Given the description of an element on the screen output the (x, y) to click on. 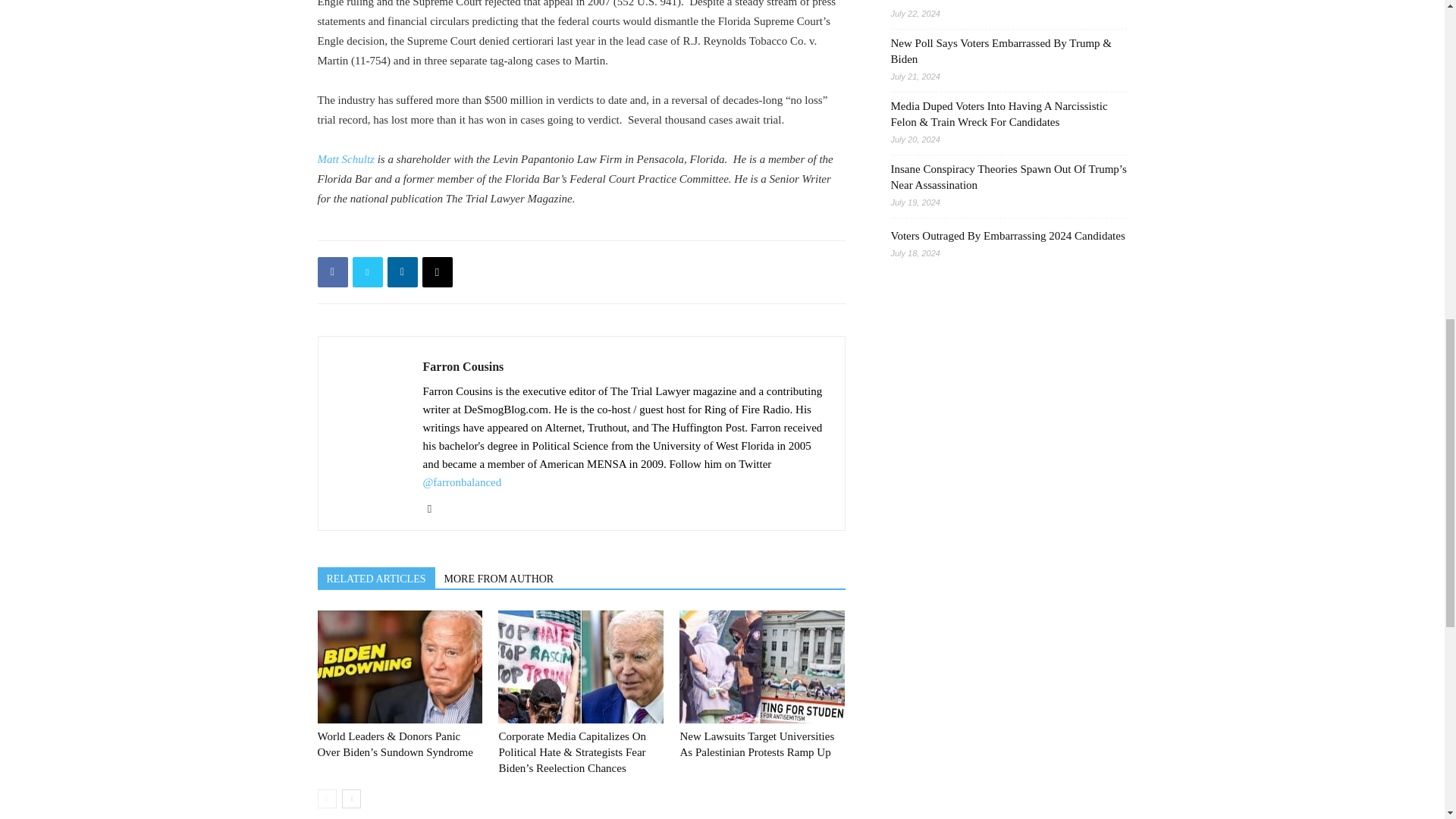
Twitter (435, 507)
